Given the description of an element on the screen output the (x, y) to click on. 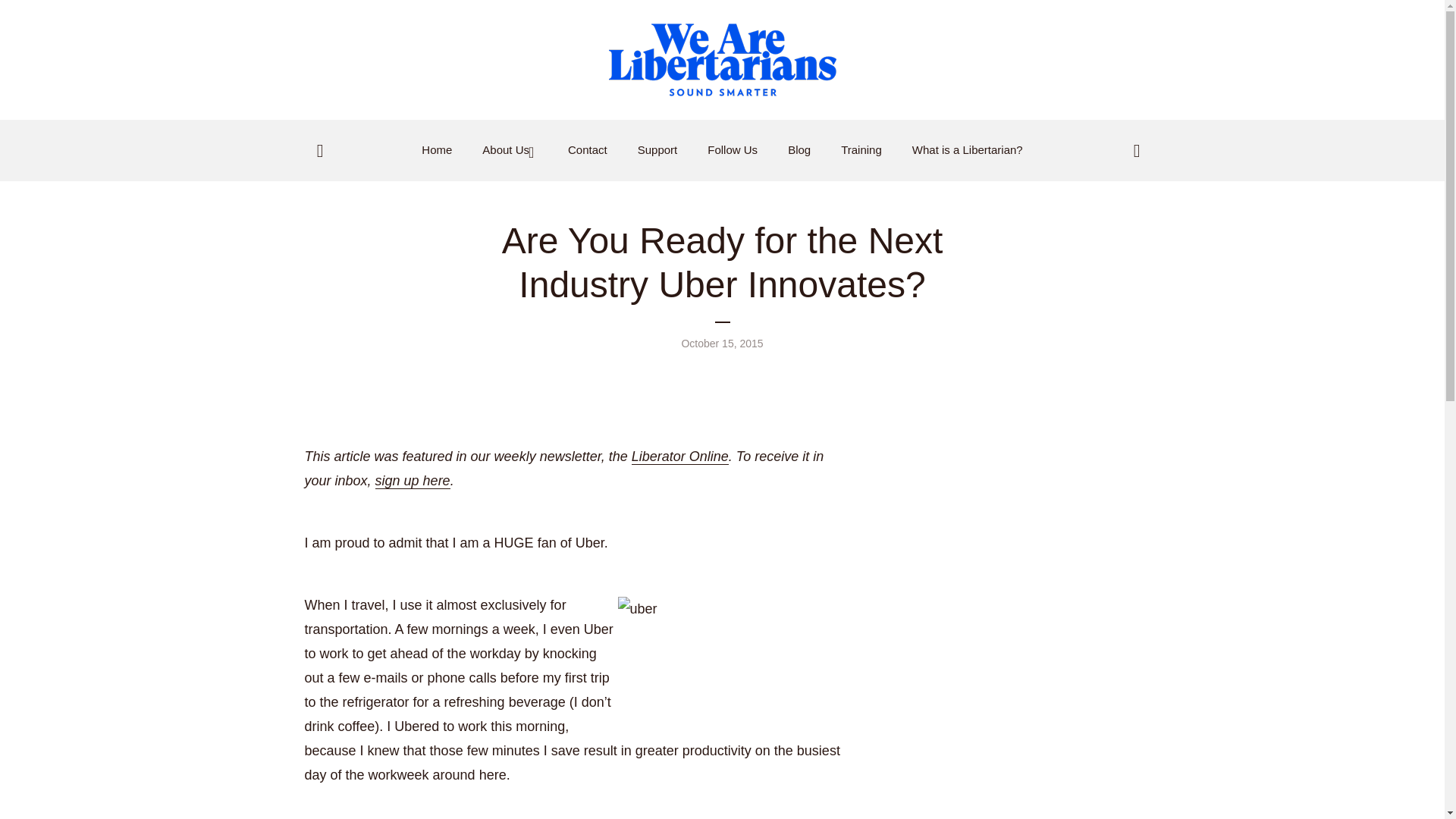
Contact (587, 150)
sign up here (412, 480)
Support (657, 150)
Training (861, 150)
uber (730, 660)
Follow Us (732, 150)
About Us (509, 150)
Liberator Online (680, 456)
What is a Libertarian? (967, 150)
